Given the description of an element on the screen output the (x, y) to click on. 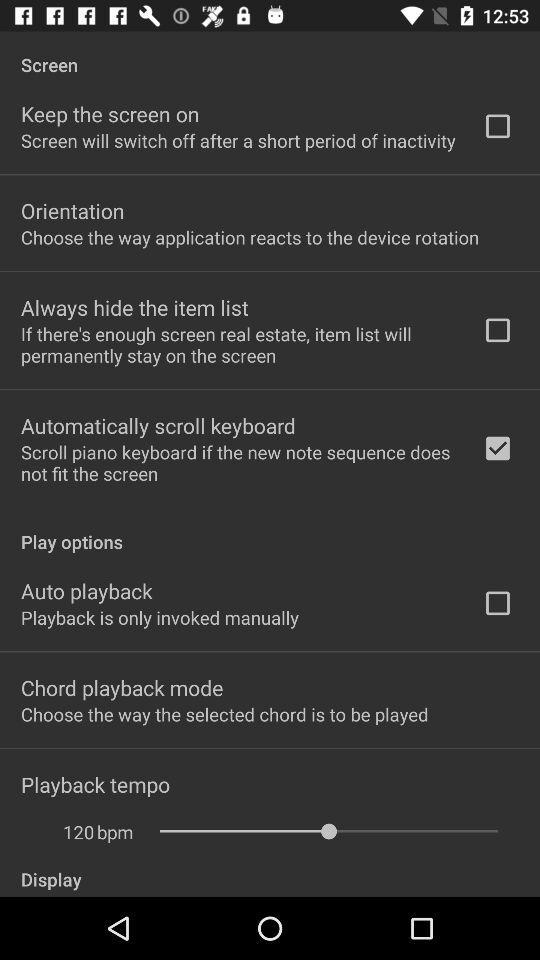
launch the play options app (270, 531)
